Given the description of an element on the screen output the (x, y) to click on. 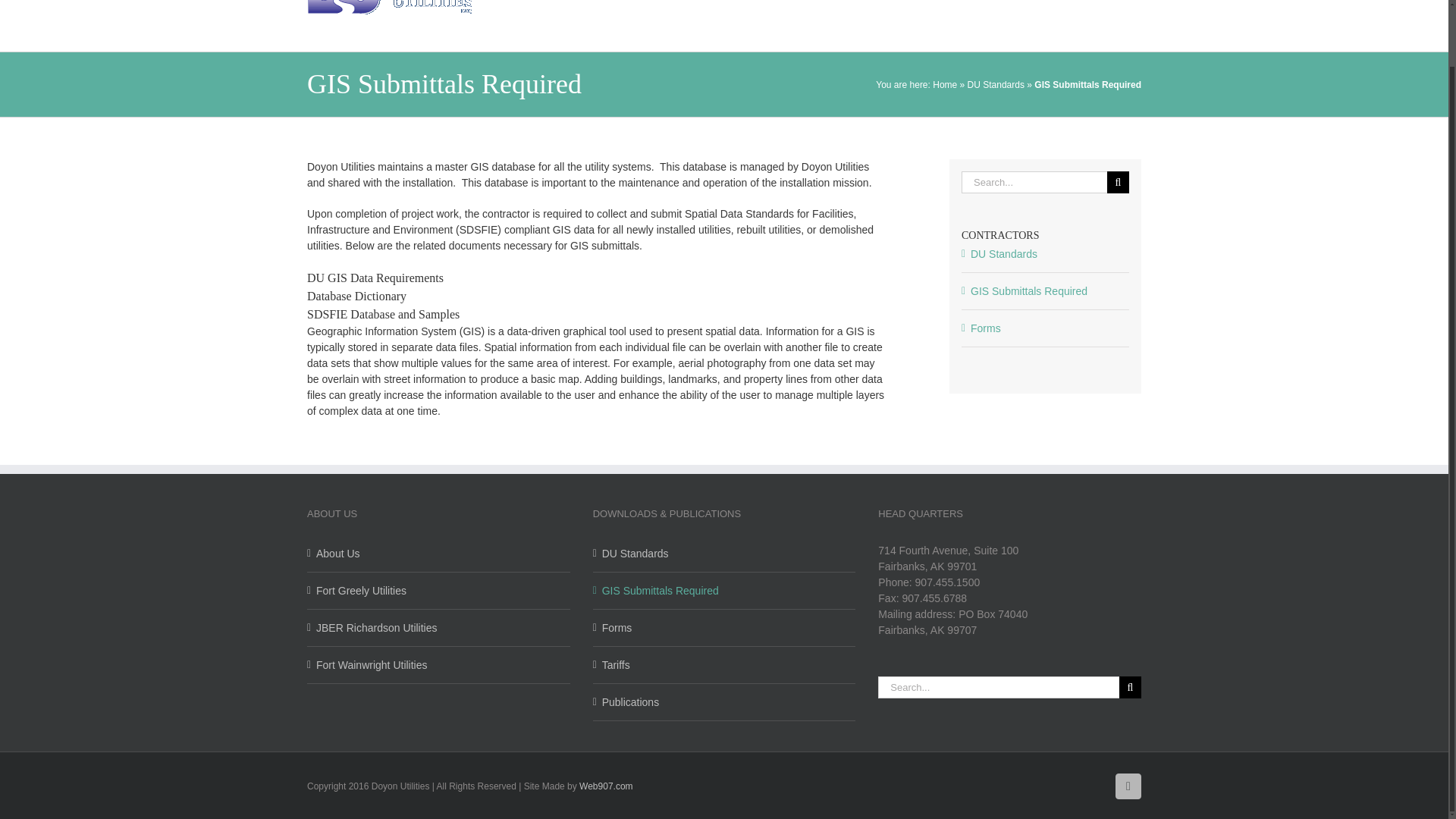
Contact Us (1113, 6)
Home (944, 83)
About Us (641, 6)
Tariffs (942, 6)
DU Standards (996, 83)
Contractors (864, 6)
Water Quality Reports (725, 701)
Publications (1022, 6)
Career Opportunities (751, 6)
